Given the description of an element on the screen output the (x, y) to click on. 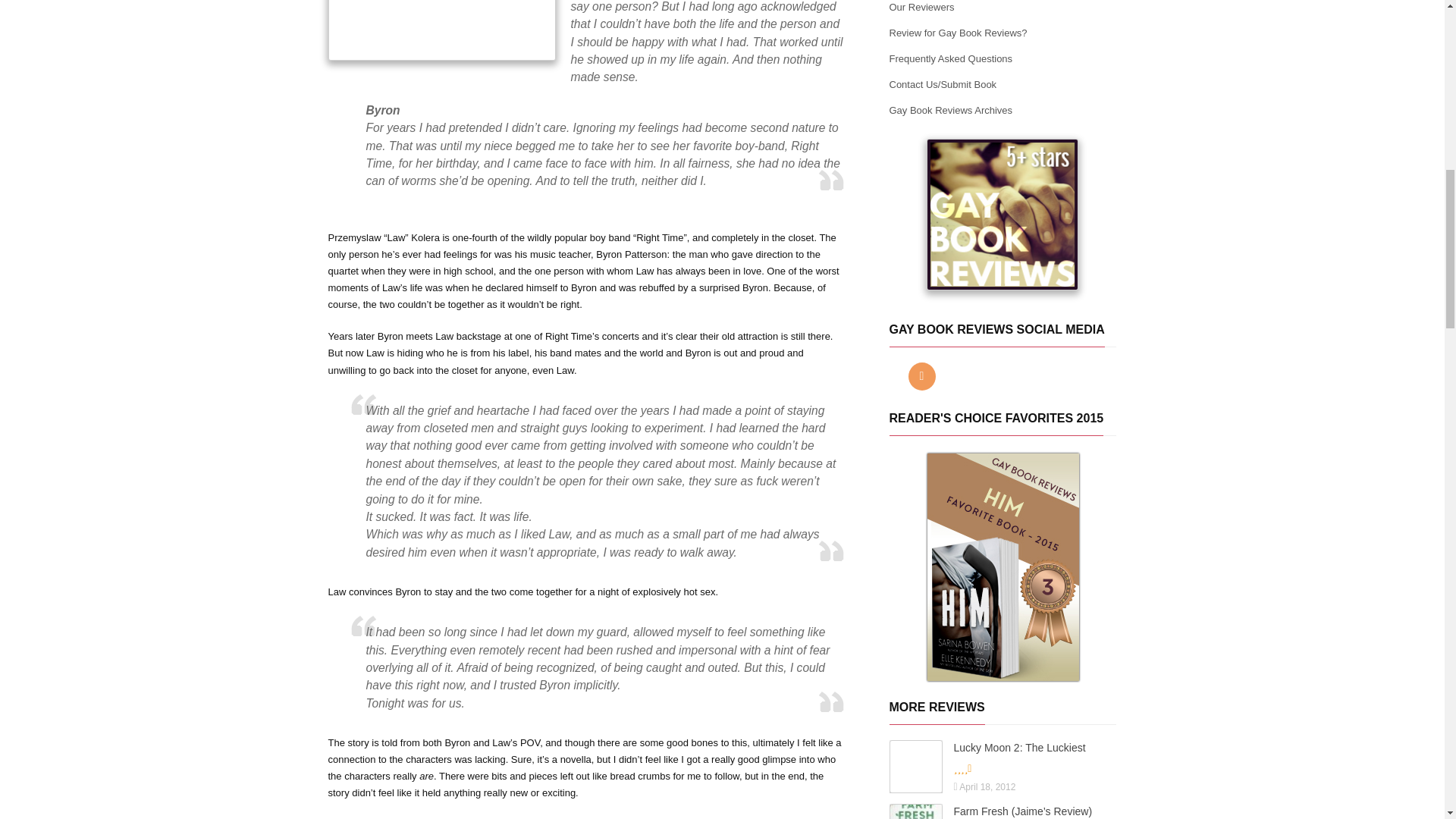
4.50 (998, 769)
